Given the description of an element on the screen output the (x, y) to click on. 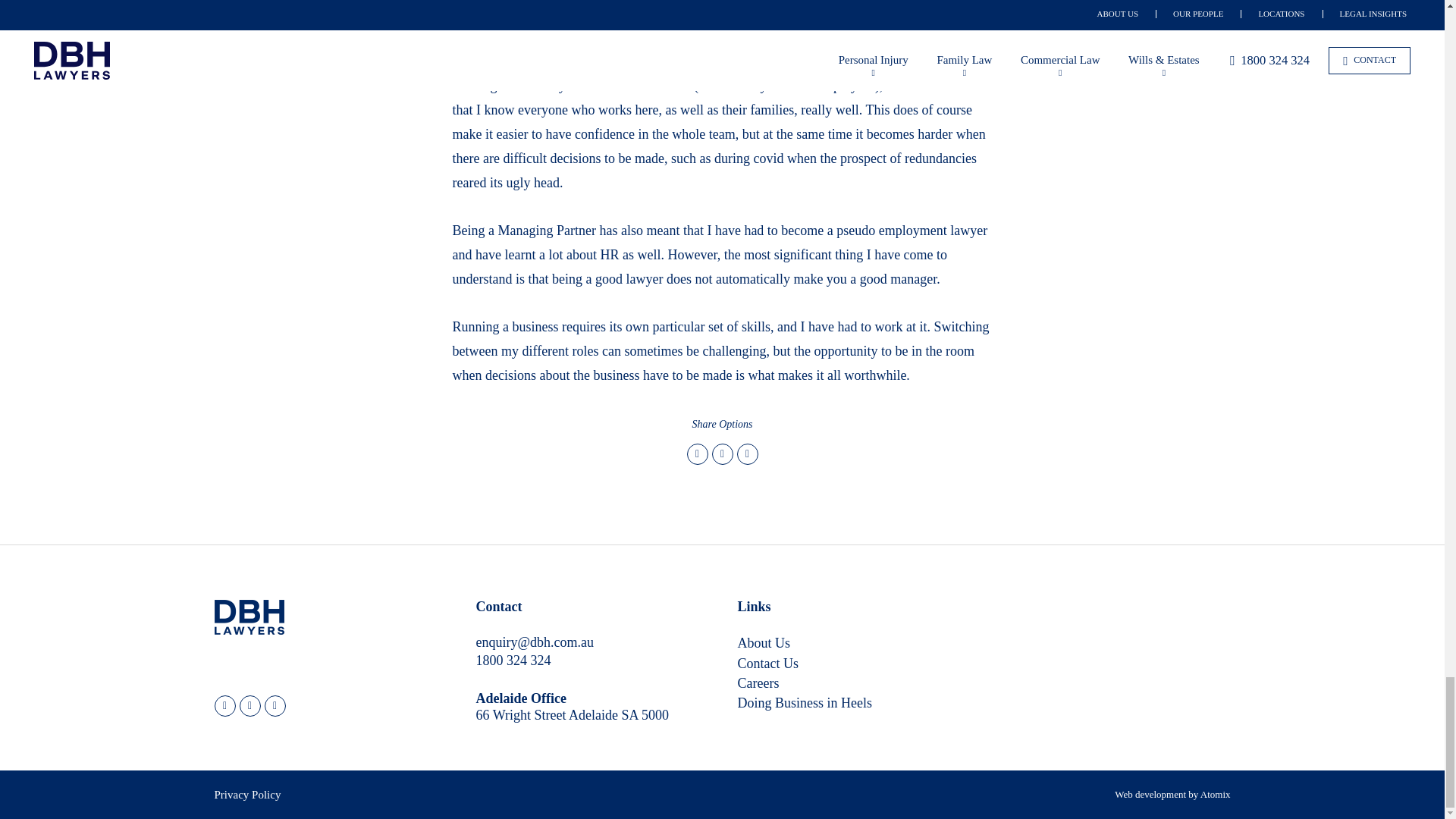
Share on Twitter (697, 453)
Share on Facebook (721, 453)
Web development by Atomix (1172, 794)
Share on LinkedIn (747, 453)
